Given the description of an element on the screen output the (x, y) to click on. 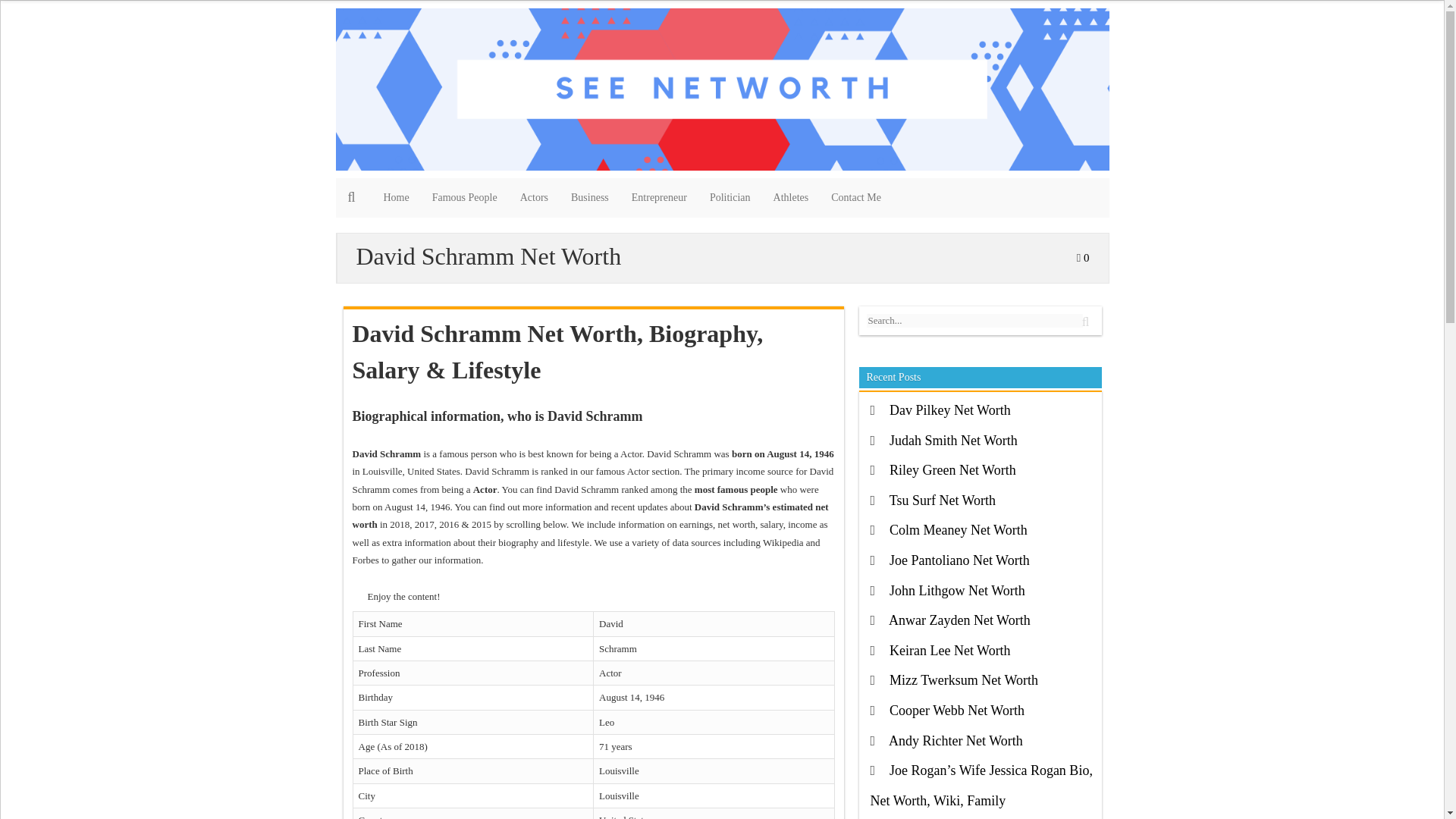
Contact Me (855, 198)
Home (395, 198)
Anwar Zayden Net Worth (959, 620)
Colm Meaney Net Worth (958, 529)
Business (589, 198)
Actors (533, 198)
Andy Richter Net Worth (955, 740)
Cooper Webb Net Worth (957, 710)
Politician (729, 198)
Judah Smith Net Worth (953, 440)
Contact Me (855, 198)
Dav Pilkey Net Worth (949, 409)
Joe Pantoliano Net Worth (959, 560)
Mizz Twerksum Net Worth (963, 679)
Riley Green Net Worth (952, 469)
